Given the description of an element on the screen output the (x, y) to click on. 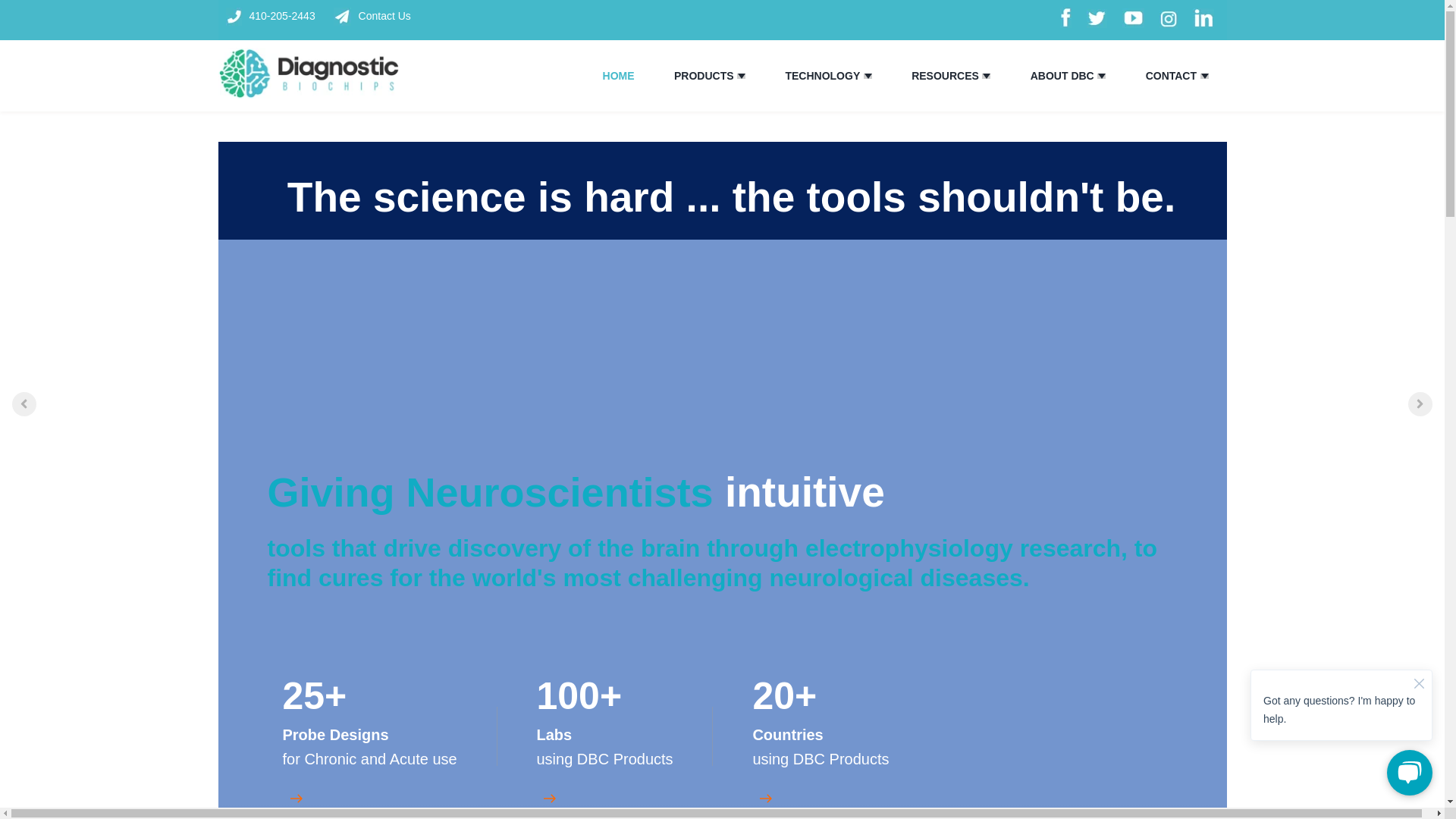
Chat Widget (1341, 723)
TECHNOLOGY (822, 75)
HOME (618, 75)
Show submenu for Contact (1203, 75)
410-205-2443      (277, 16)
Show submenu for Products (740, 75)
Diagnostic Biochips (308, 72)
RESOURCES (944, 75)
ABOUT DBC (1062, 75)
Show submenu for About DBC (1101, 75)
CONTACT (1170, 75)
Show submenu for Resources (985, 75)
PRODUCTS (703, 75)
Contact Us (371, 16)
Show submenu for Technology (867, 75)
